Given the description of an element on the screen output the (x, y) to click on. 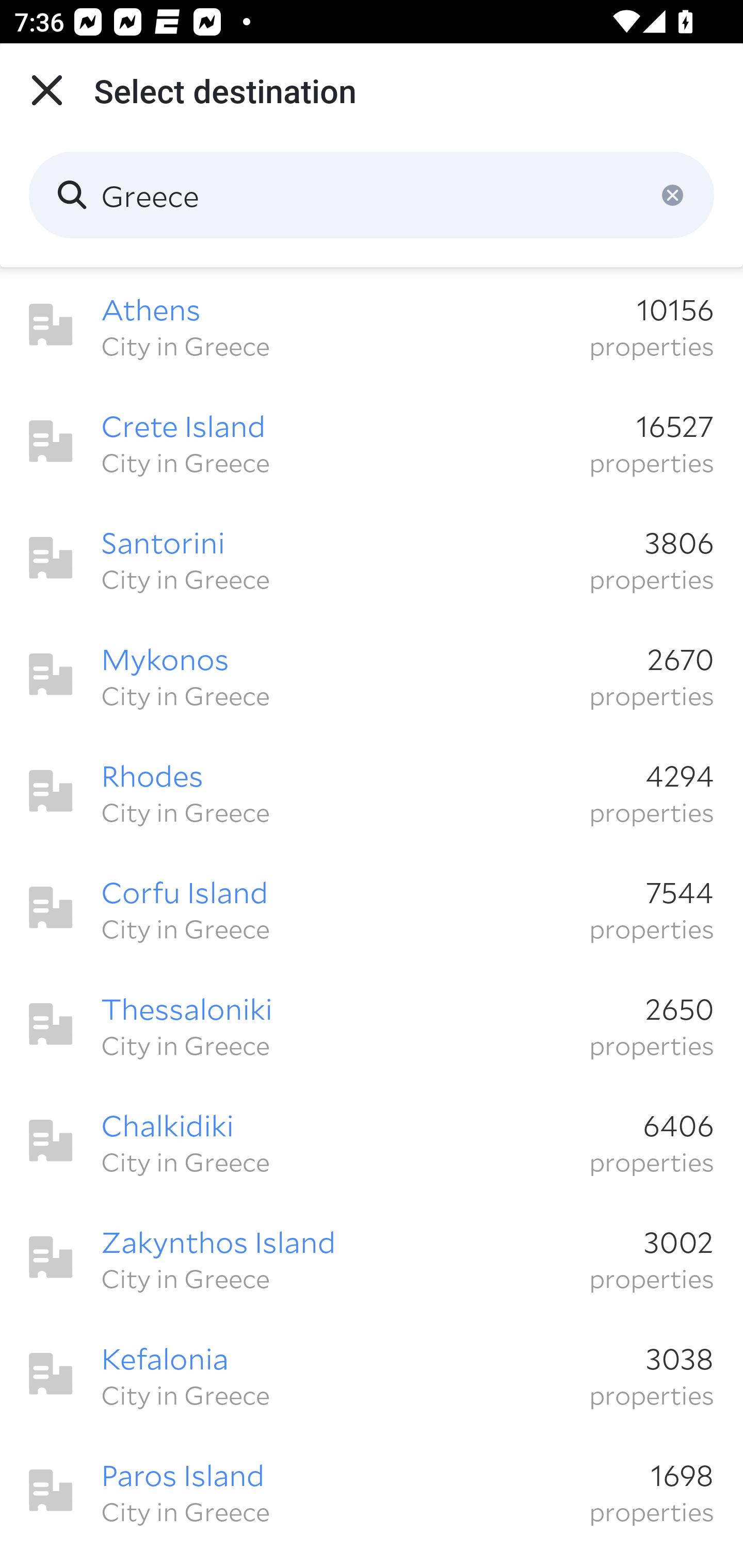
Greece (371, 195)
Athens 10156 City in Greece properties (371, 325)
Crete Island 16527 City in Greece properties (371, 442)
Santorini 3806 City in Greece properties (371, 558)
Mykonos 2670 City in Greece properties (371, 674)
Rhodes 4294 City in Greece properties (371, 791)
Corfu Island 7544 City in Greece properties (371, 907)
Thessaloniki 2650 City in Greece properties (371, 1024)
Chalkidiki 6406 City in Greece properties (371, 1141)
Zakynthos Island 3002 City in Greece properties (371, 1257)
Kefalonia 3038 City in Greece properties (371, 1374)
Paros Island 1698 City in Greece properties (371, 1491)
